Given the description of an element on the screen output the (x, y) to click on. 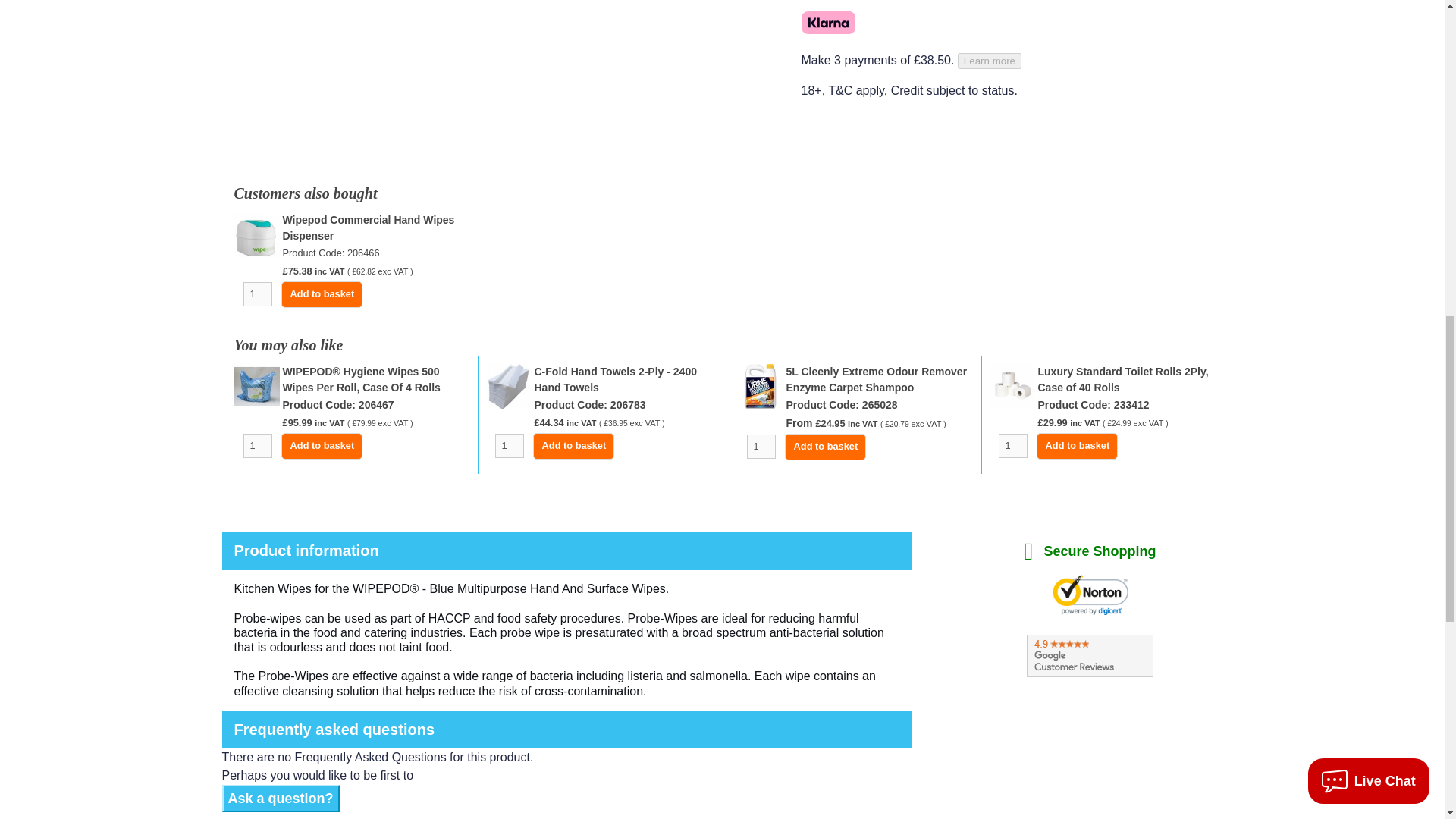
1 (508, 445)
1 (256, 445)
Add to basket (573, 446)
Add to basket (1077, 446)
Add to basket (321, 294)
1 (759, 446)
Add to basket (321, 446)
Add to basket (825, 447)
1 (256, 293)
